Given the description of an element on the screen output the (x, y) to click on. 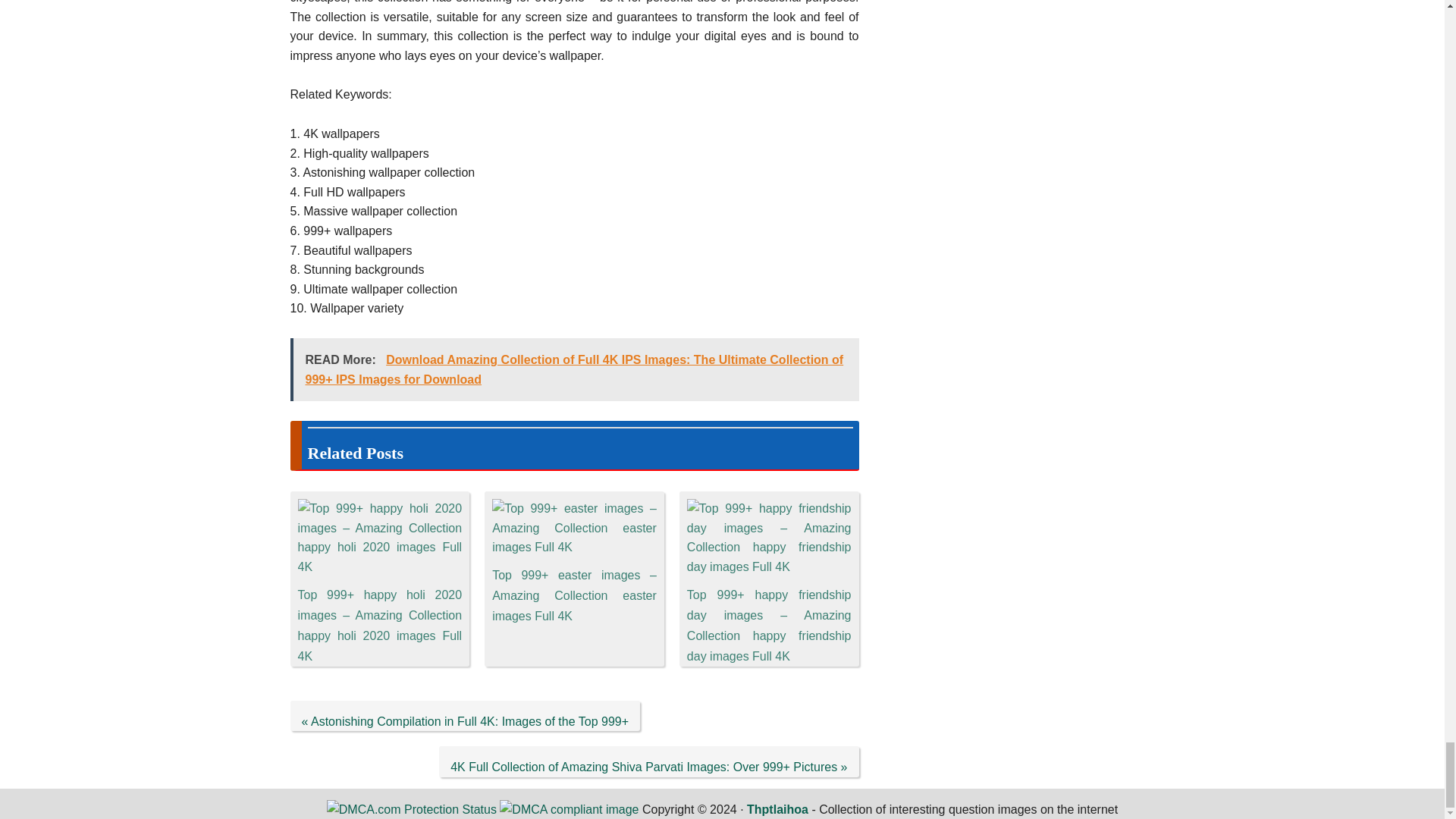
DMCA.com Protection Status (411, 809)
DMCA Compliance information for thptlaihoa.edu.vn (569, 809)
Thptlaihoa (777, 809)
